Given the description of an element on the screen output the (x, y) to click on. 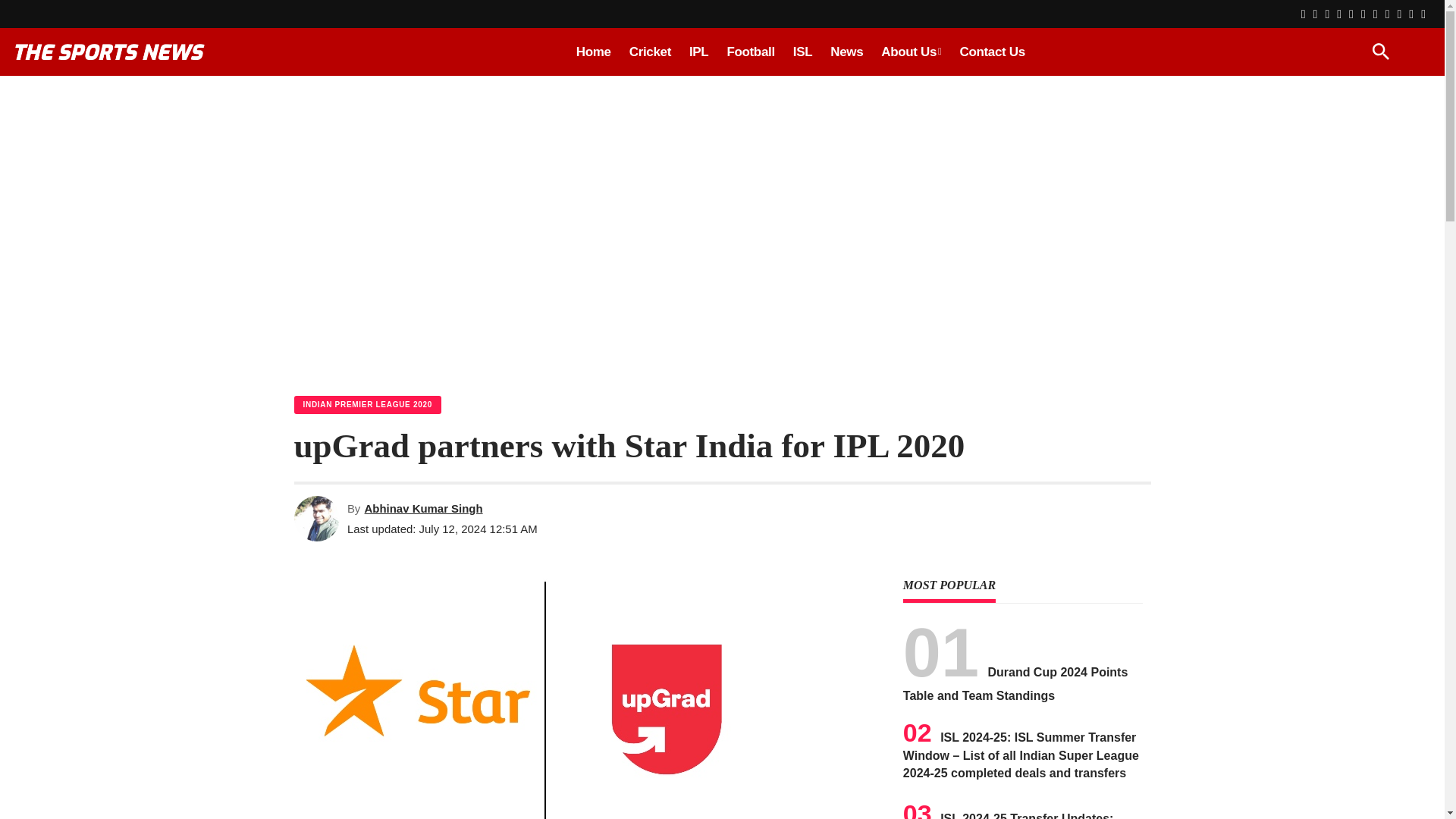
Football (750, 51)
About Us (911, 51)
Contact Us (991, 51)
Cricket (649, 51)
News (846, 51)
Home (593, 51)
